Given the description of an element on the screen output the (x, y) to click on. 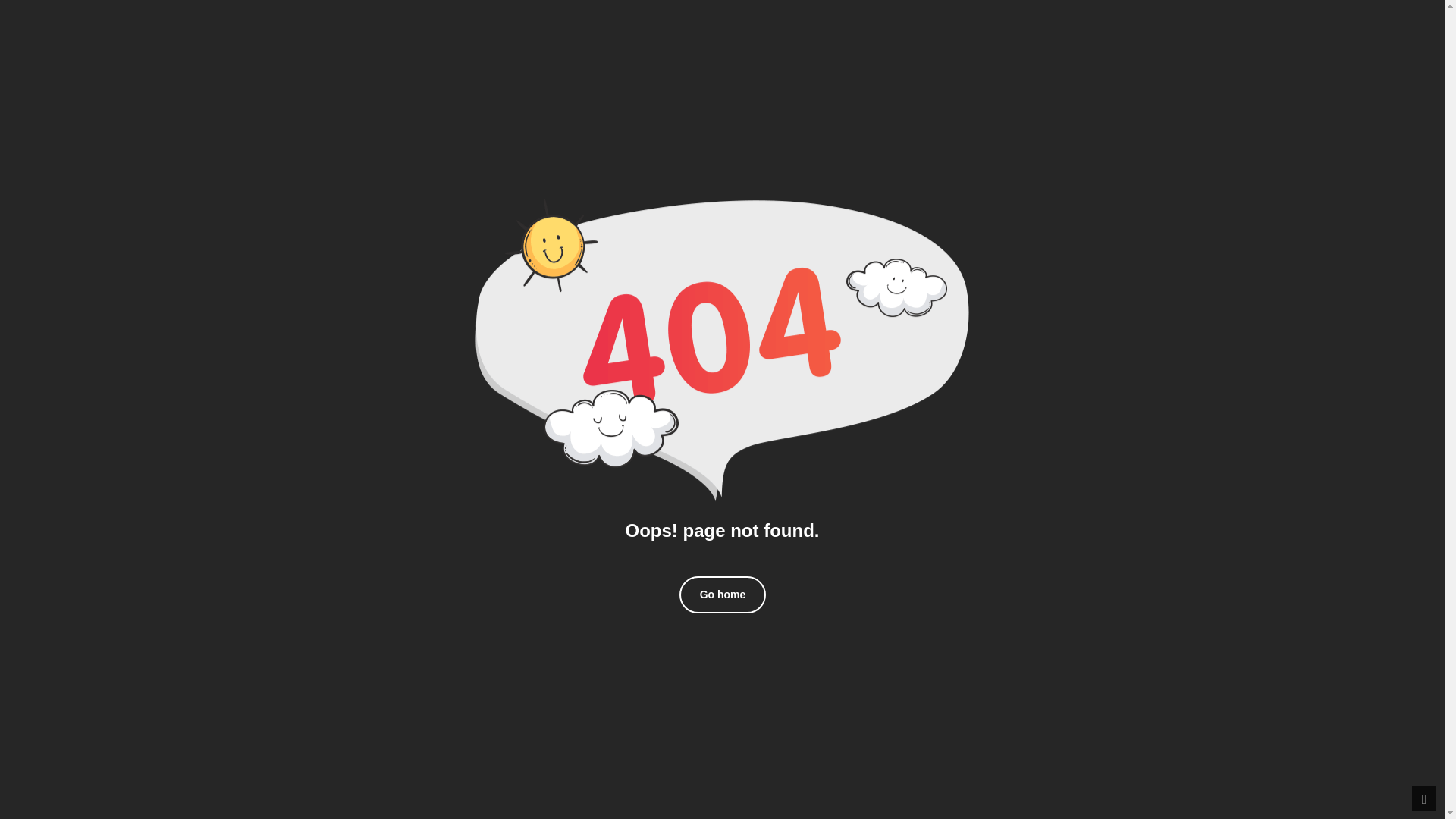
Go home (723, 594)
